Given the description of an element on the screen output the (x, y) to click on. 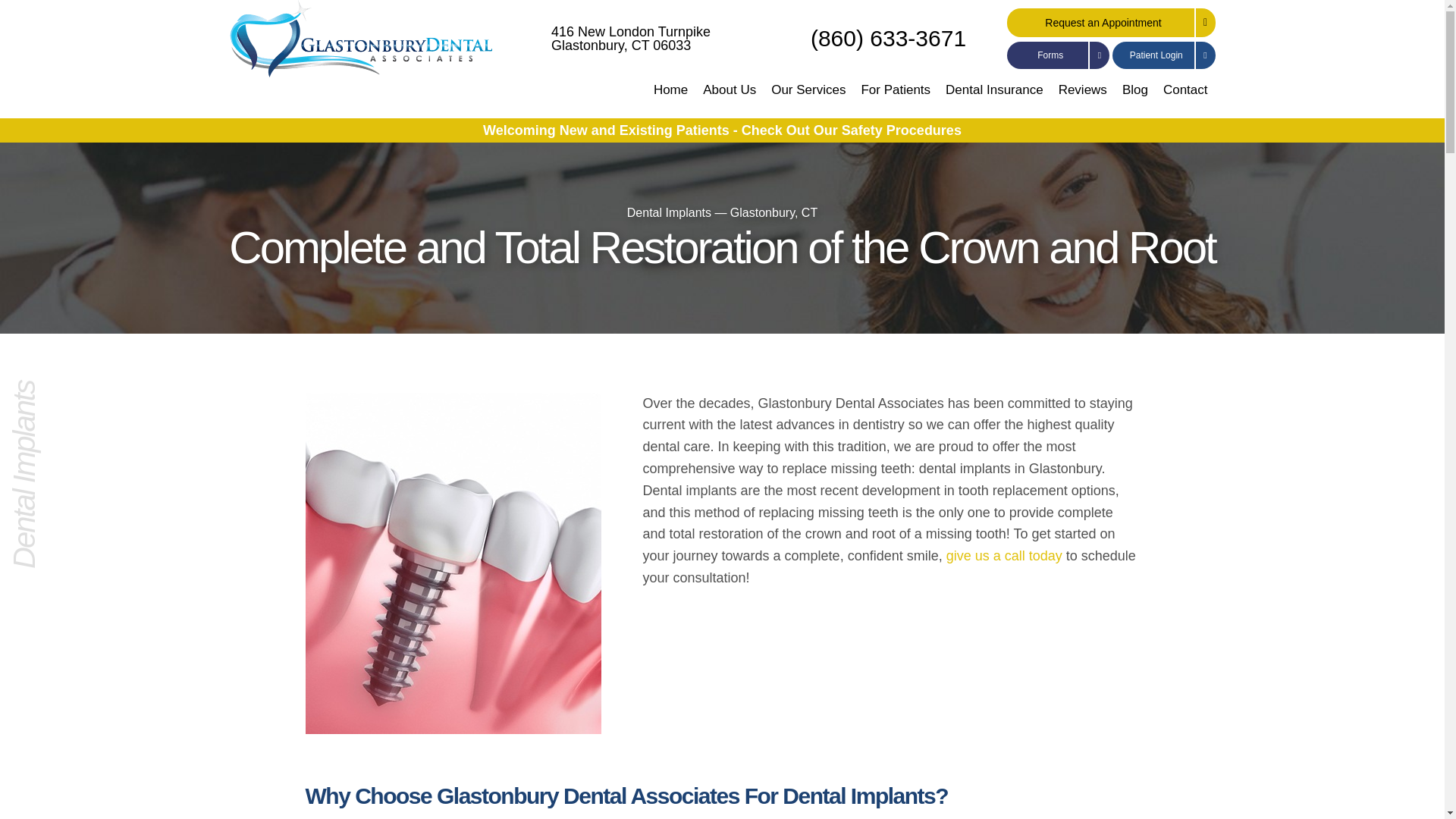
Patient Login (1163, 54)
Request an Appointment (1111, 22)
Forms (1058, 54)
Dentist Glastonbury (621, 38)
About Us (670, 96)
Dental Services (728, 96)
Our Services (807, 96)
Home (807, 96)
About Us (670, 96)
